Given the description of an element on the screen output the (x, y) to click on. 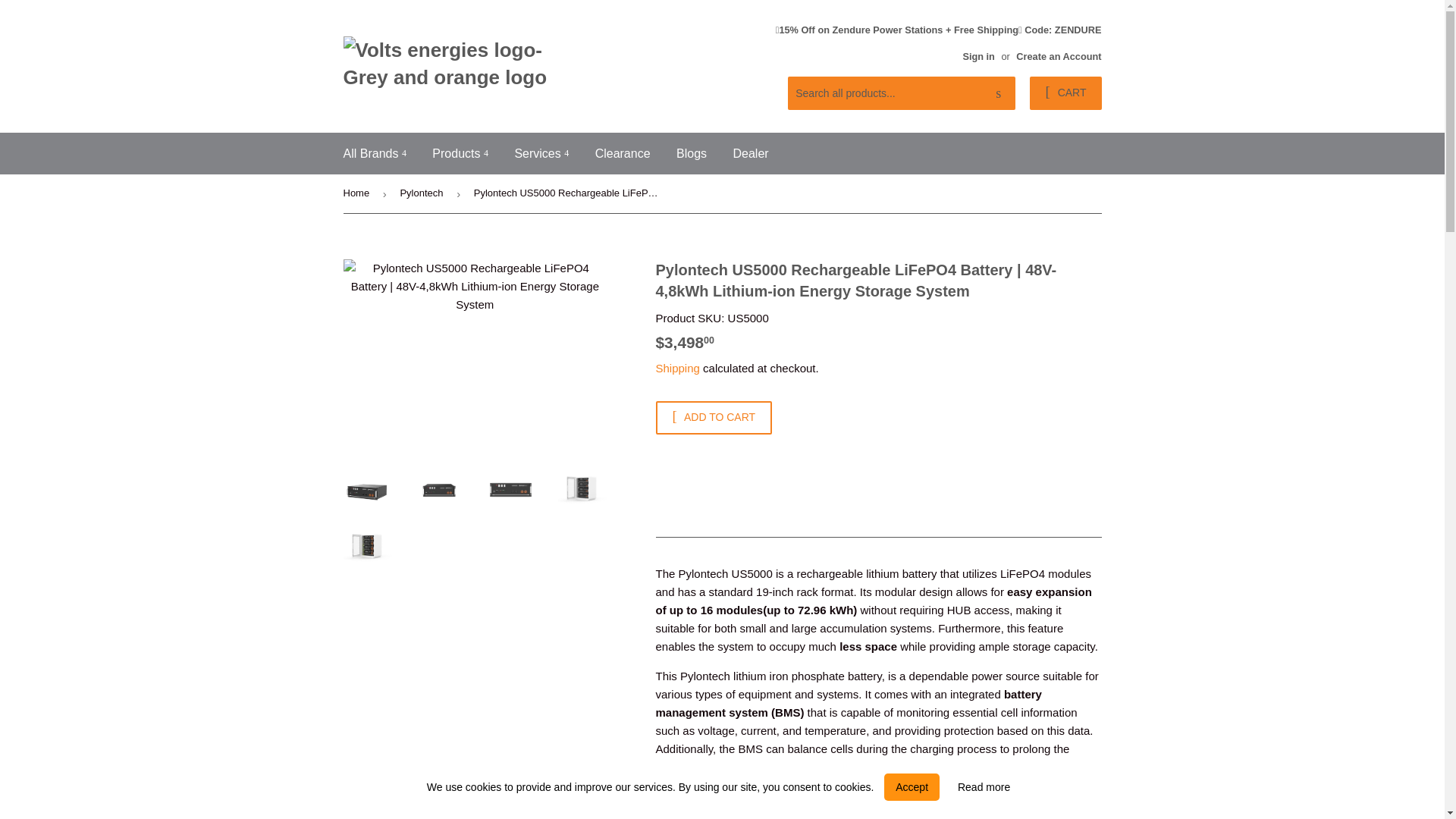
Accept (911, 786)
Read more (984, 786)
Search (997, 93)
CART (1064, 92)
Sign in (978, 56)
Create an Account (1058, 56)
